Given the description of an element on the screen output the (x, y) to click on. 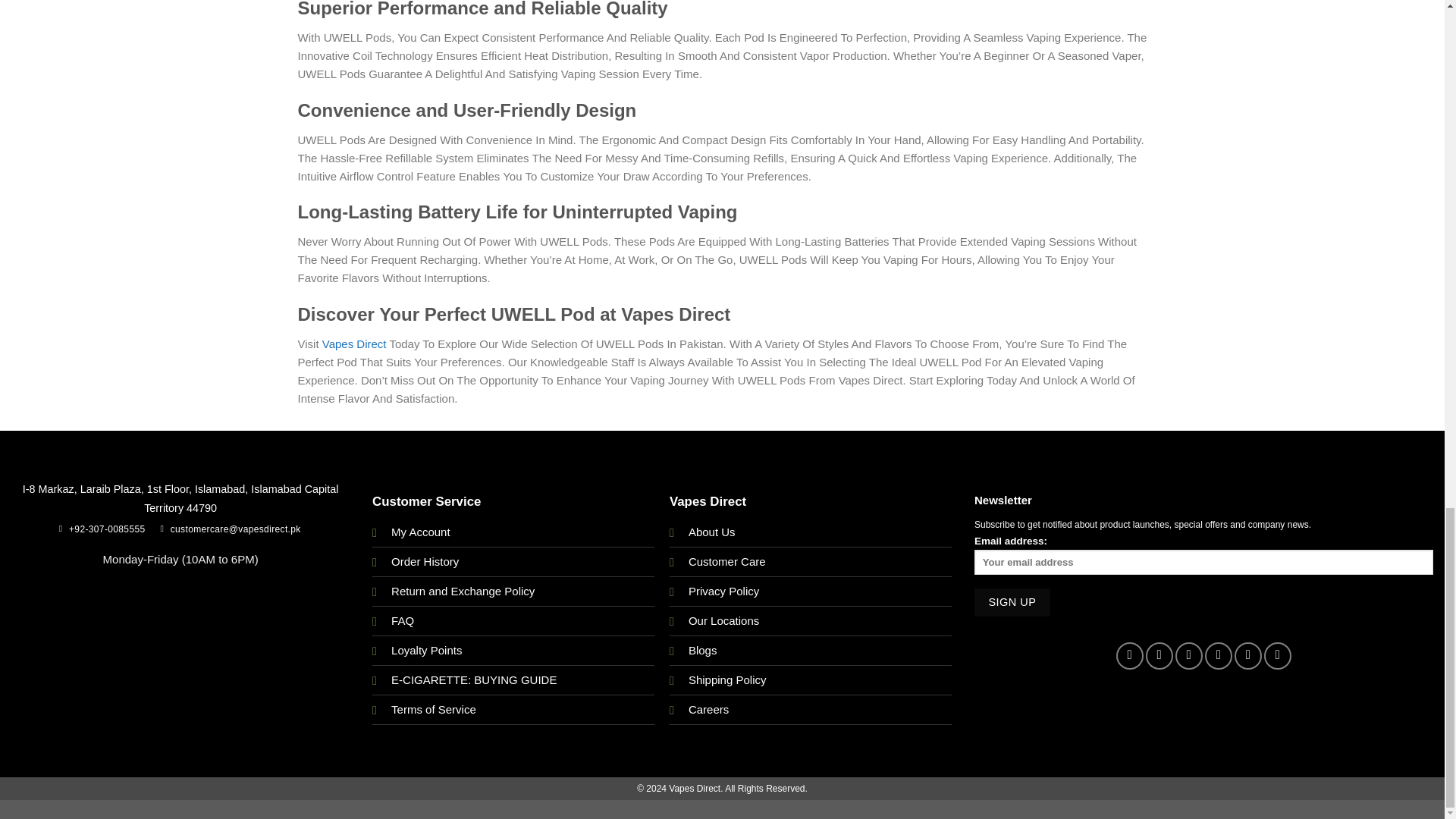
Follow on YouTube (1277, 655)
Follow on TikTok (1188, 655)
Follow on Instagram (1159, 655)
Follow on LinkedIn (1248, 655)
Sign up (1011, 602)
Follow on Facebook (1129, 655)
Follow on Twitter (1218, 655)
